Given the description of an element on the screen output the (x, y) to click on. 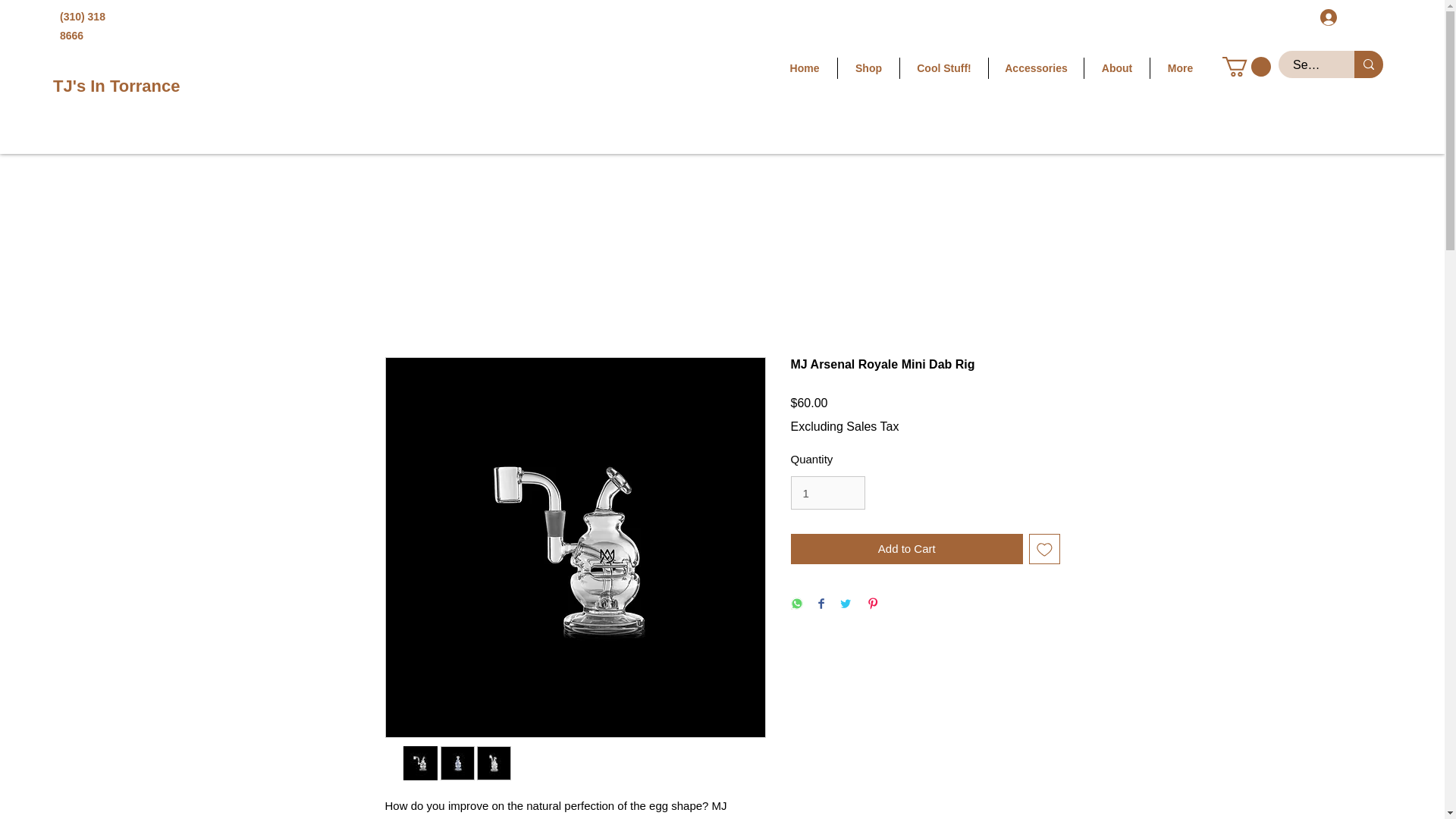
Shop (868, 67)
Cool Stuff! (943, 67)
Accessories (1035, 67)
1 (827, 492)
TJ's In Torrance (115, 85)
Log In (1347, 17)
Home (804, 67)
About (1117, 67)
